Given the description of an element on the screen output the (x, y) to click on. 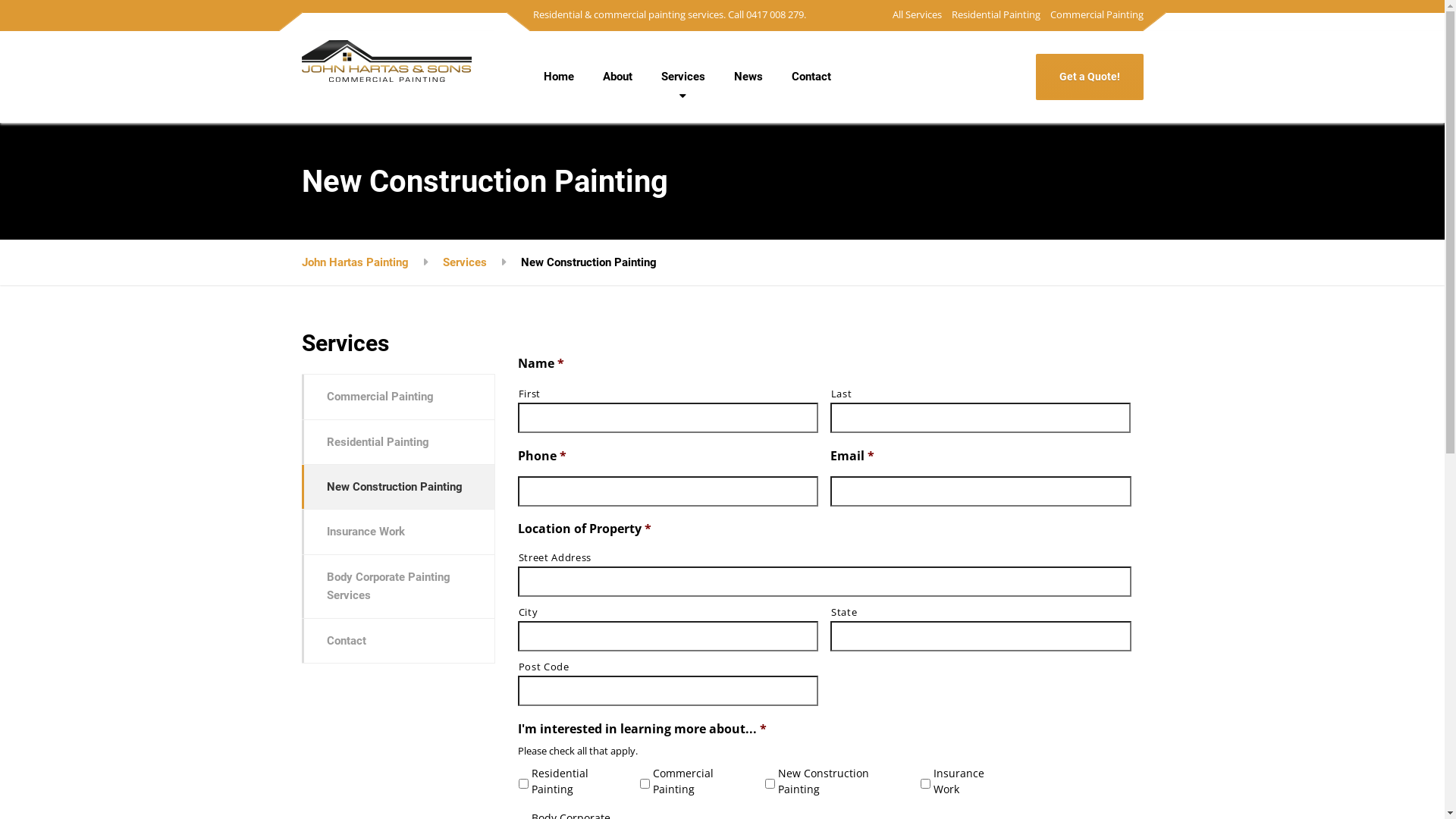
Contact Element type: text (810, 76)
Commercial Painting Element type: text (1094, 15)
Services Element type: text (464, 262)
John Hartas Painting Element type: text (354, 262)
Insurance Work Element type: text (398, 531)
Commercial Painting Element type: text (398, 396)
News Element type: text (747, 76)
Residential Painting Element type: text (995, 15)
Contact Element type: text (398, 640)
Home Element type: text (558, 76)
All Services Element type: text (916, 15)
About Element type: text (617, 76)
Get a Quote! Element type: text (1089, 76)
Body Corporate Painting Services Element type: text (398, 586)
New Construction Painting Element type: text (398, 486)
Residential Painting Element type: text (398, 442)
Services Element type: text (682, 76)
